Given the description of an element on the screen output the (x, y) to click on. 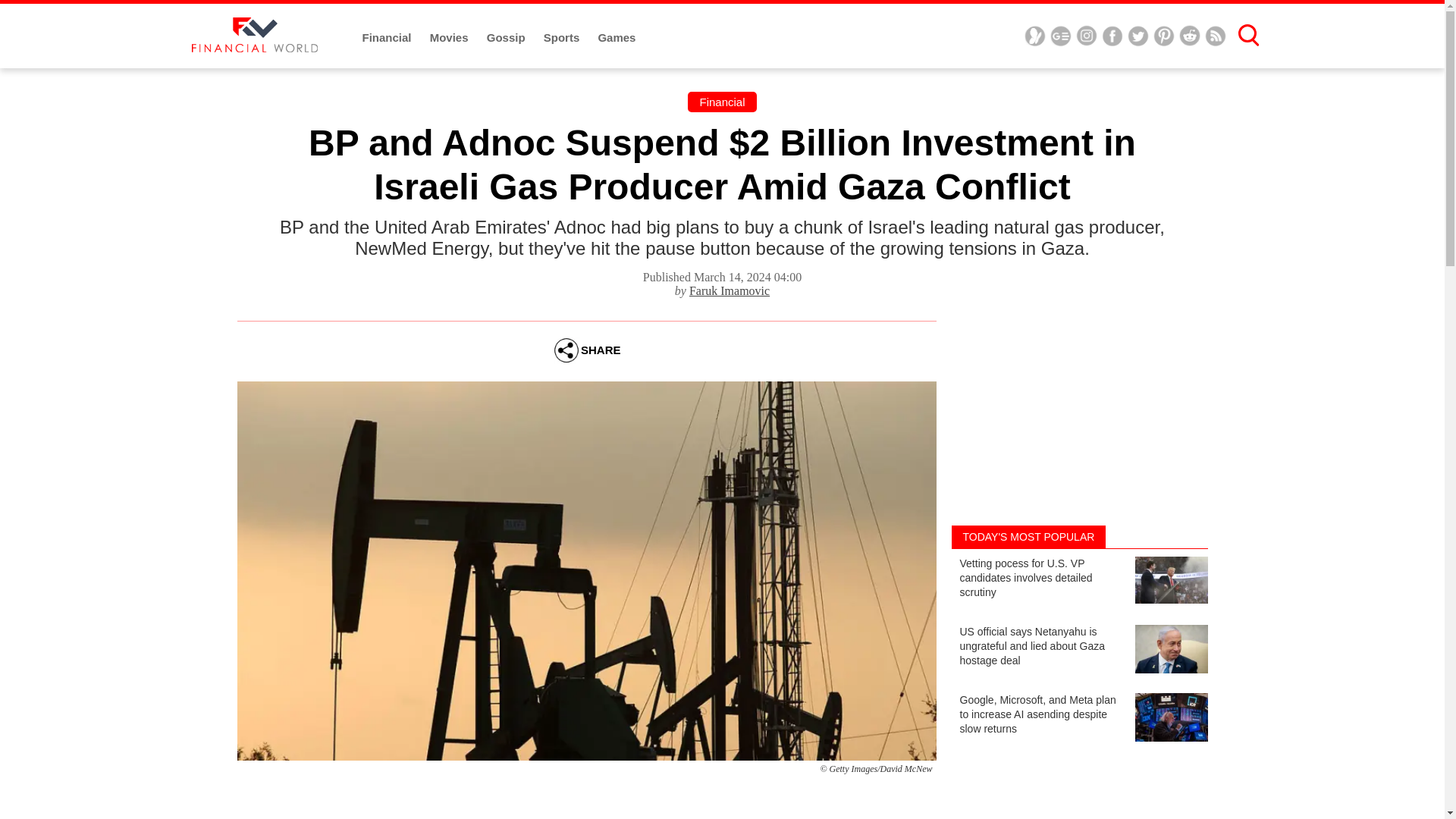
Movies (450, 37)
Sports (563, 37)
Games (615, 37)
Financial (388, 37)
Gossip (507, 37)
Financial (721, 101)
Faruk Imamovic (729, 290)
